Given the description of an element on the screen output the (x, y) to click on. 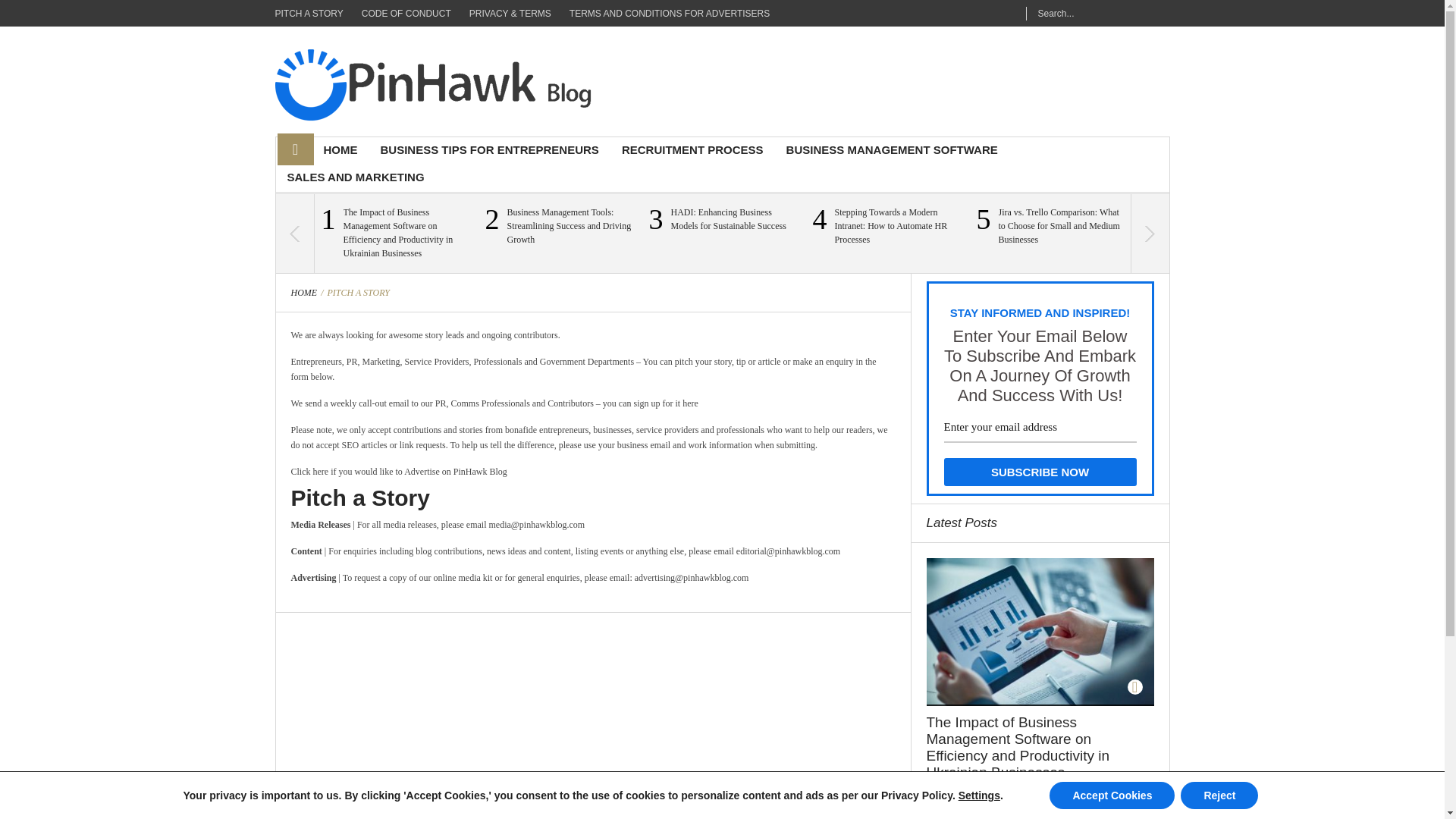
Take Action Now! (111, 13)
CODE OF CONDUCT (406, 13)
Subscribe Now (1039, 471)
BUSINESS TIPS FOR ENTREPRENEURS (489, 150)
PITCH A STORY (313, 13)
HOME (341, 150)
SALES AND MARKETING (355, 177)
Search... (1093, 12)
RECRUITMENT PROCESS (692, 150)
